Given the description of an element on the screen output the (x, y) to click on. 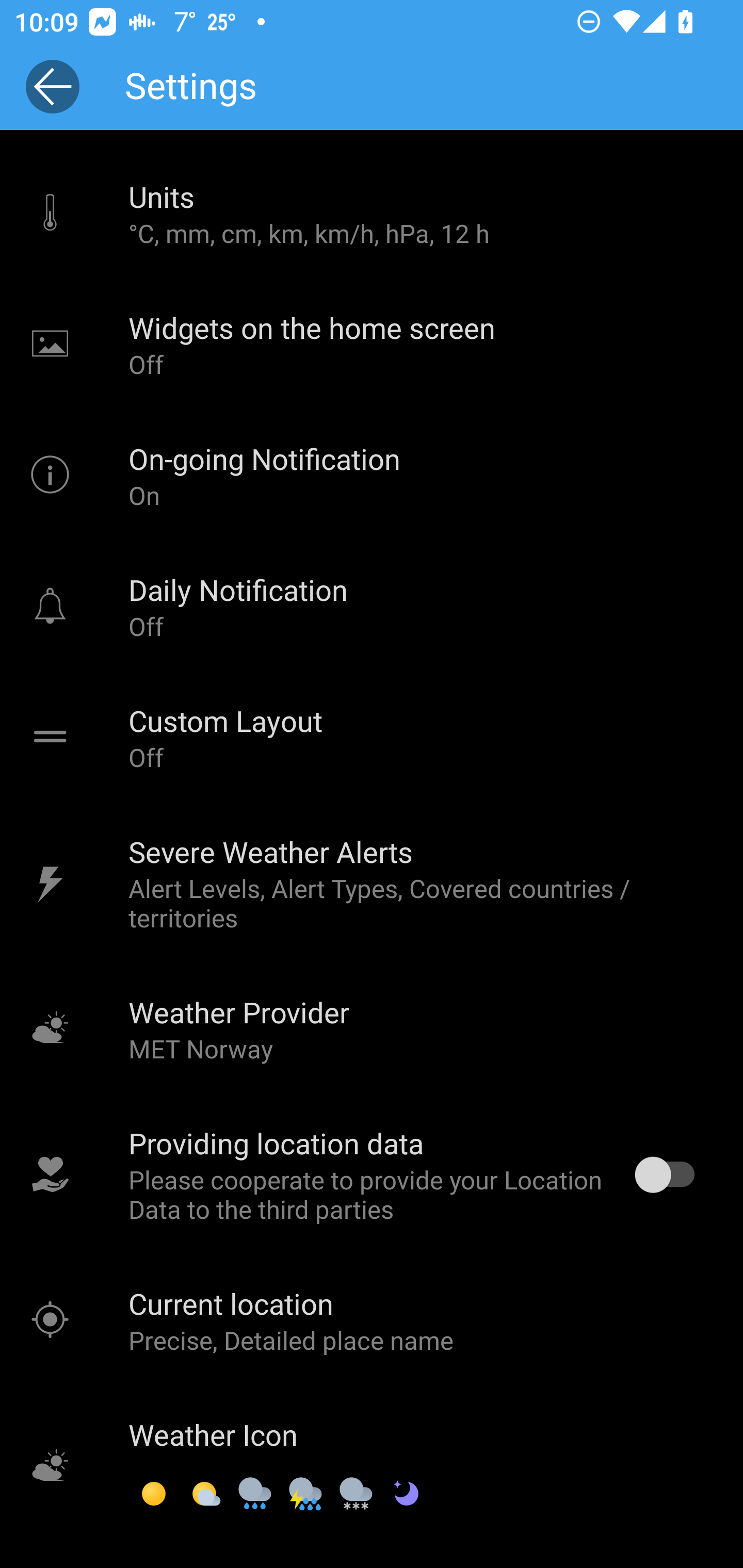
 Units °C, mm, cm, km, km/h, hPa, 12 h (371, 213)
 Widgets on the home screen Off (371, 344)
 On-going Notification On (371, 475)
 Daily Notification Off (371, 606)
 Custom Layout Off (371, 737)
 Weather Provider MET Norway (371, 1028)
 Current location Precise, Detailed place name (371, 1320)
 Weather Icon (371, 1466)
